Given the description of an element on the screen output the (x, y) to click on. 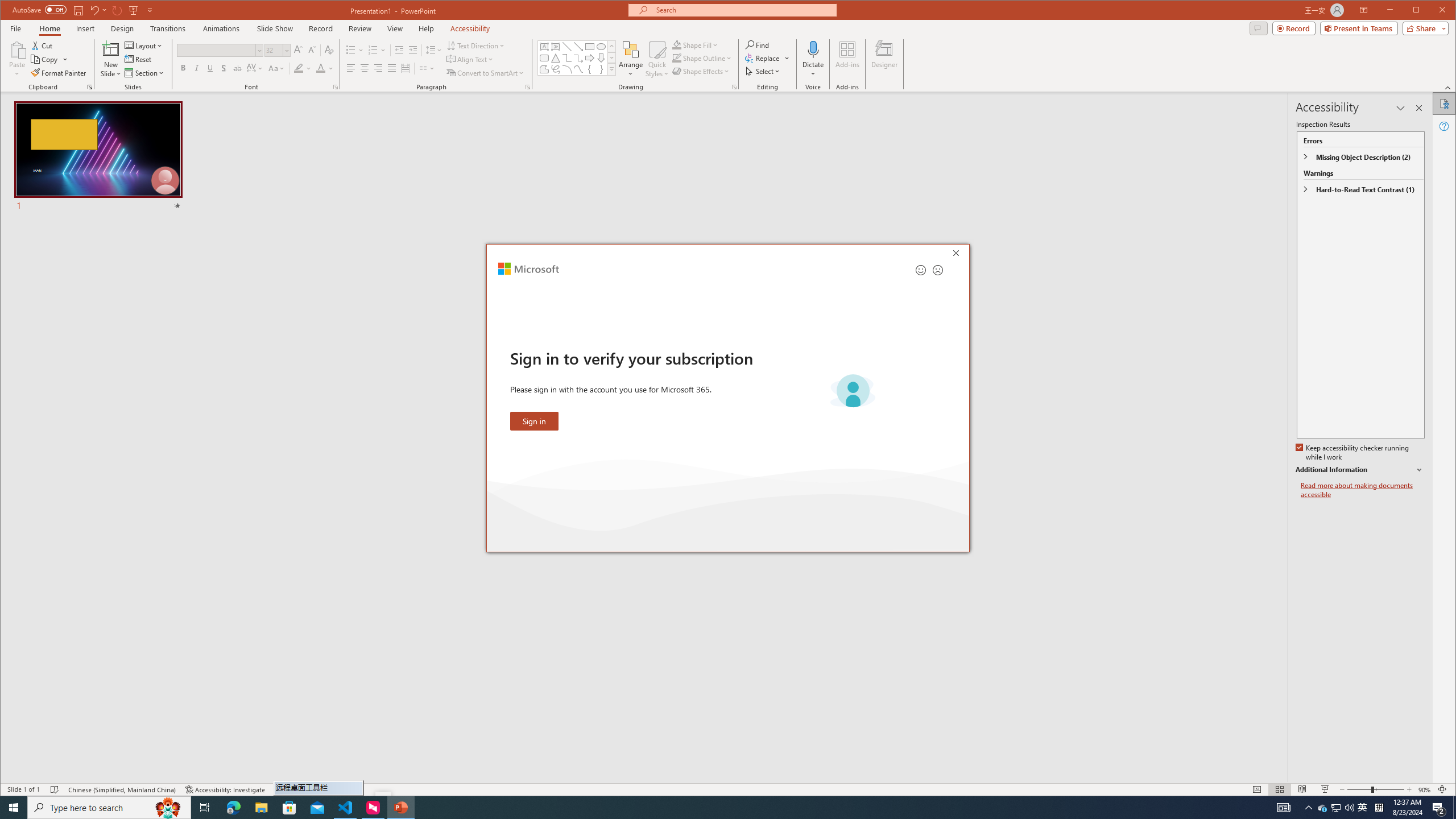
Shape Effects (702, 70)
